Given the description of an element on the screen output the (x, y) to click on. 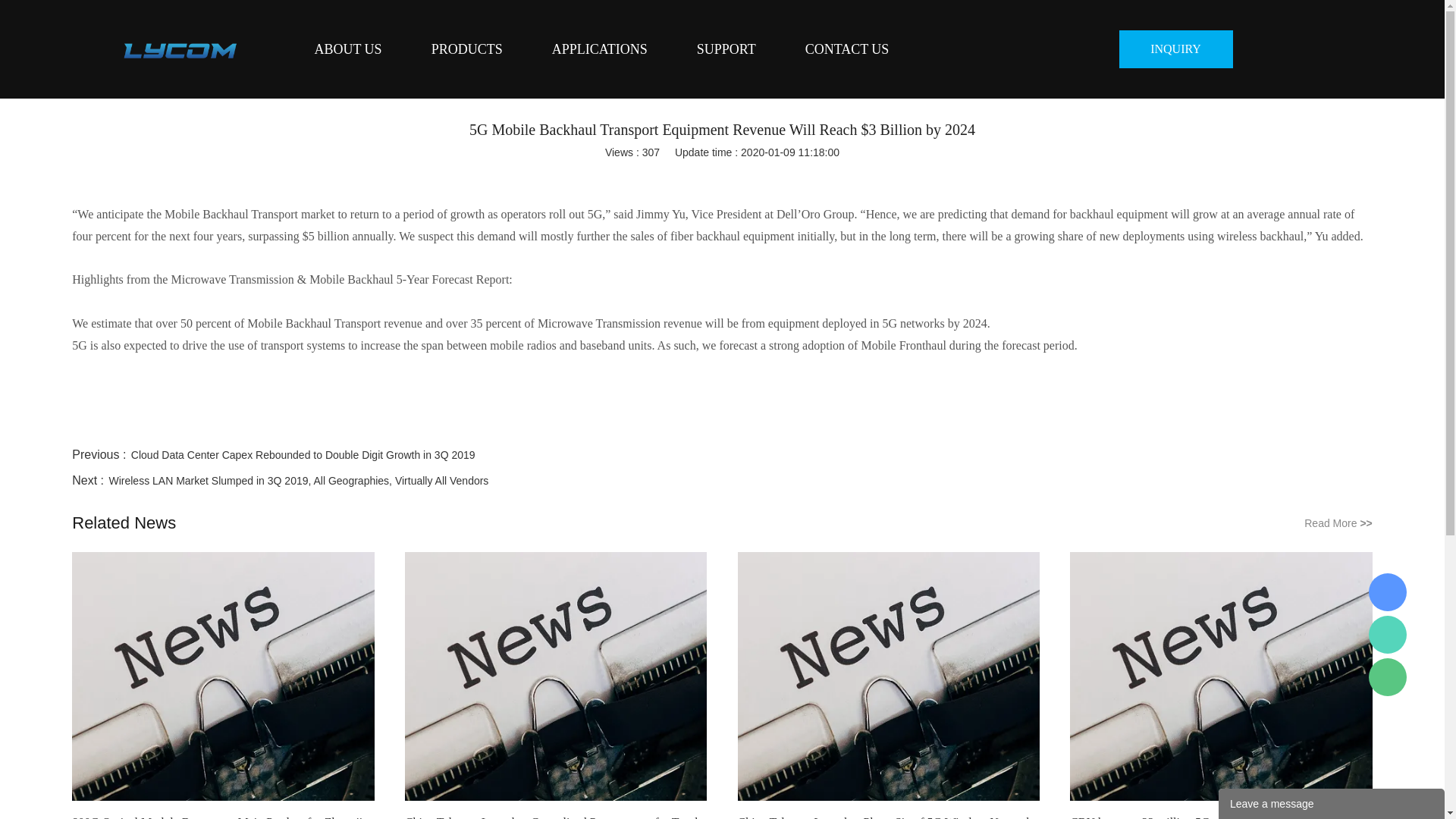
PRODUCTS (467, 48)
ABOUT US (347, 48)
